Given the description of an element on the screen output the (x, y) to click on. 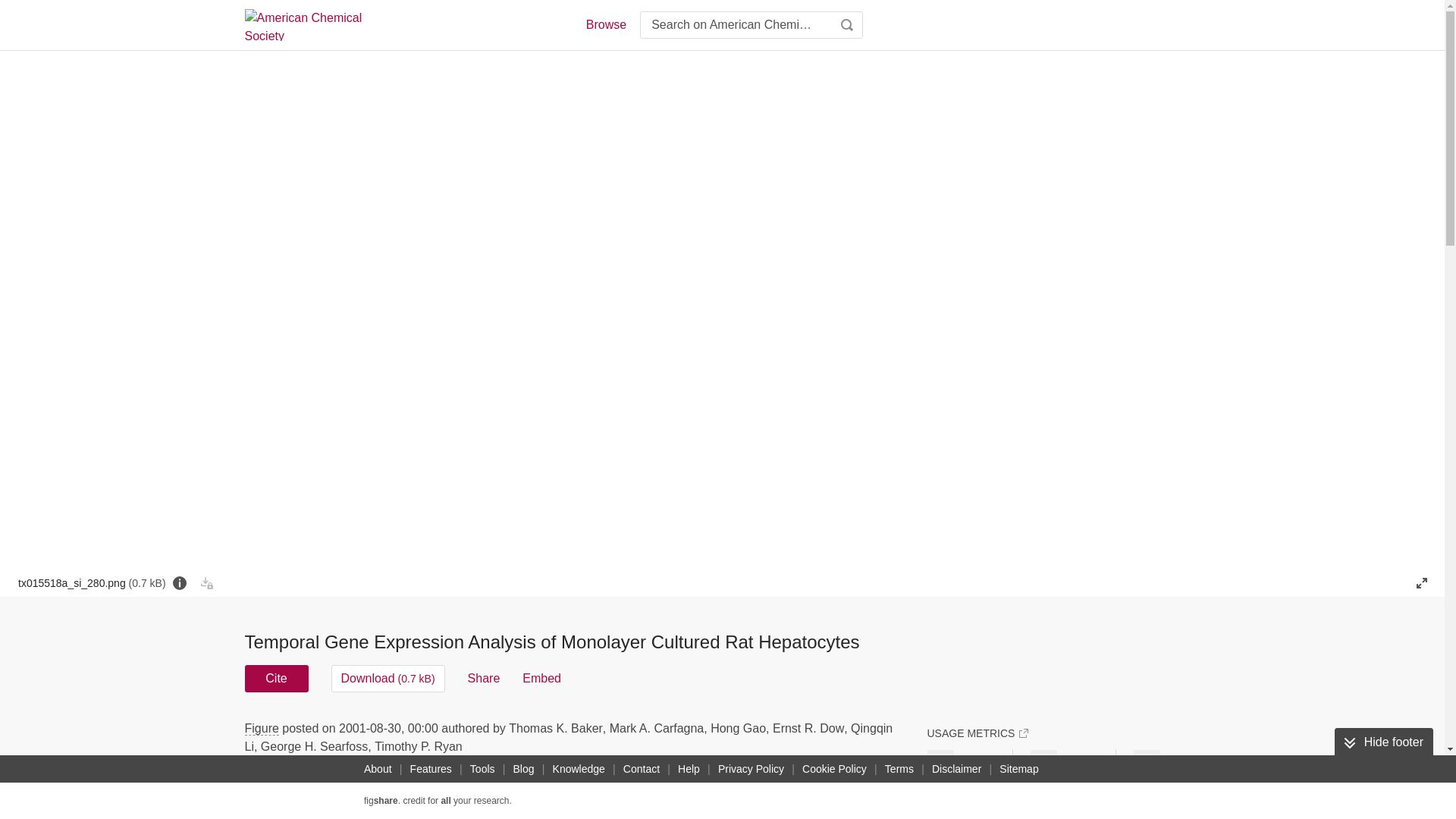
USAGE METRICS (976, 732)
Cite (275, 678)
Share (483, 678)
Embed (541, 678)
Browse (605, 24)
